Given the description of an element on the screen output the (x, y) to click on. 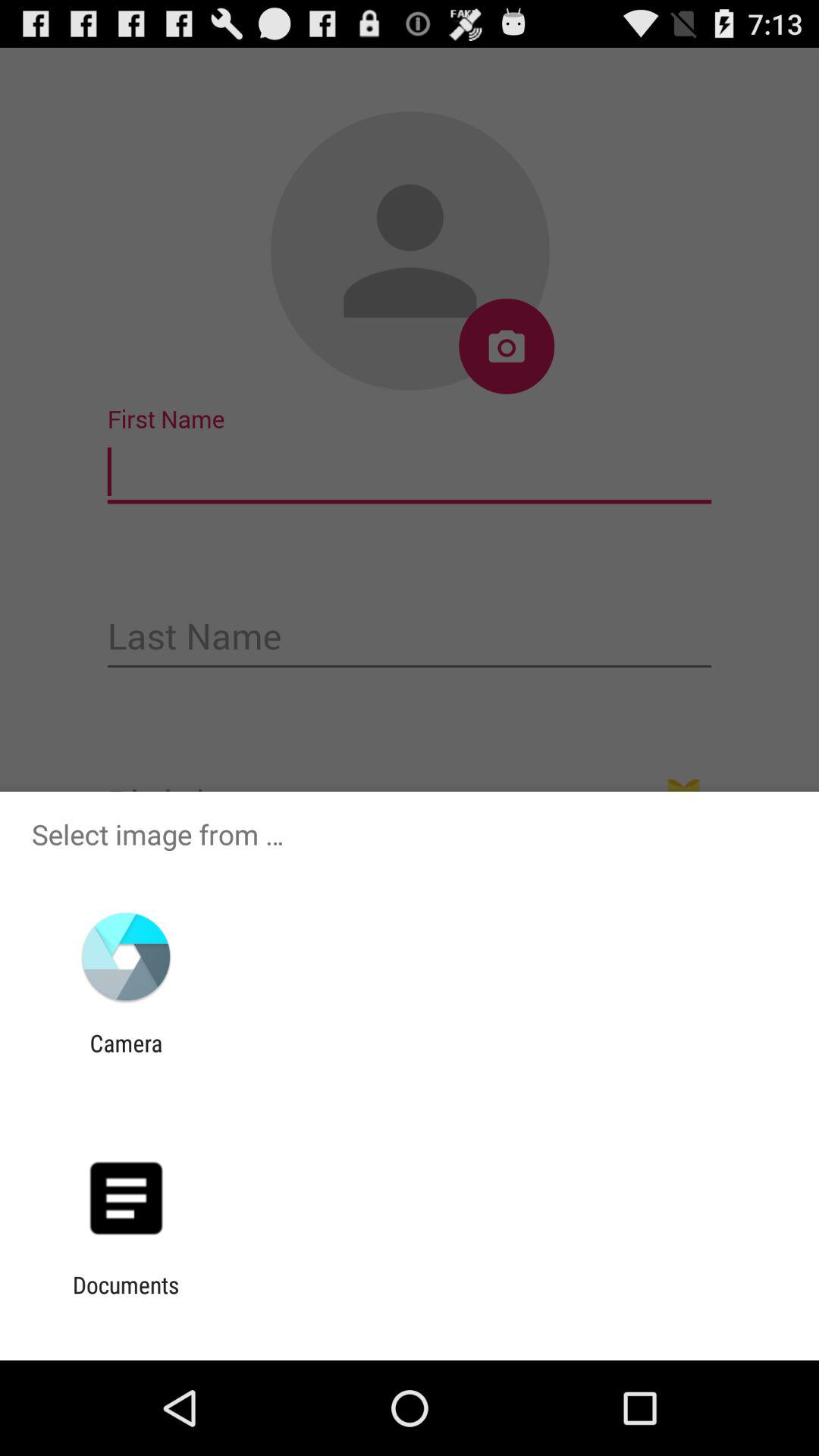
flip to documents app (125, 1298)
